Given the description of an element on the screen output the (x, y) to click on. 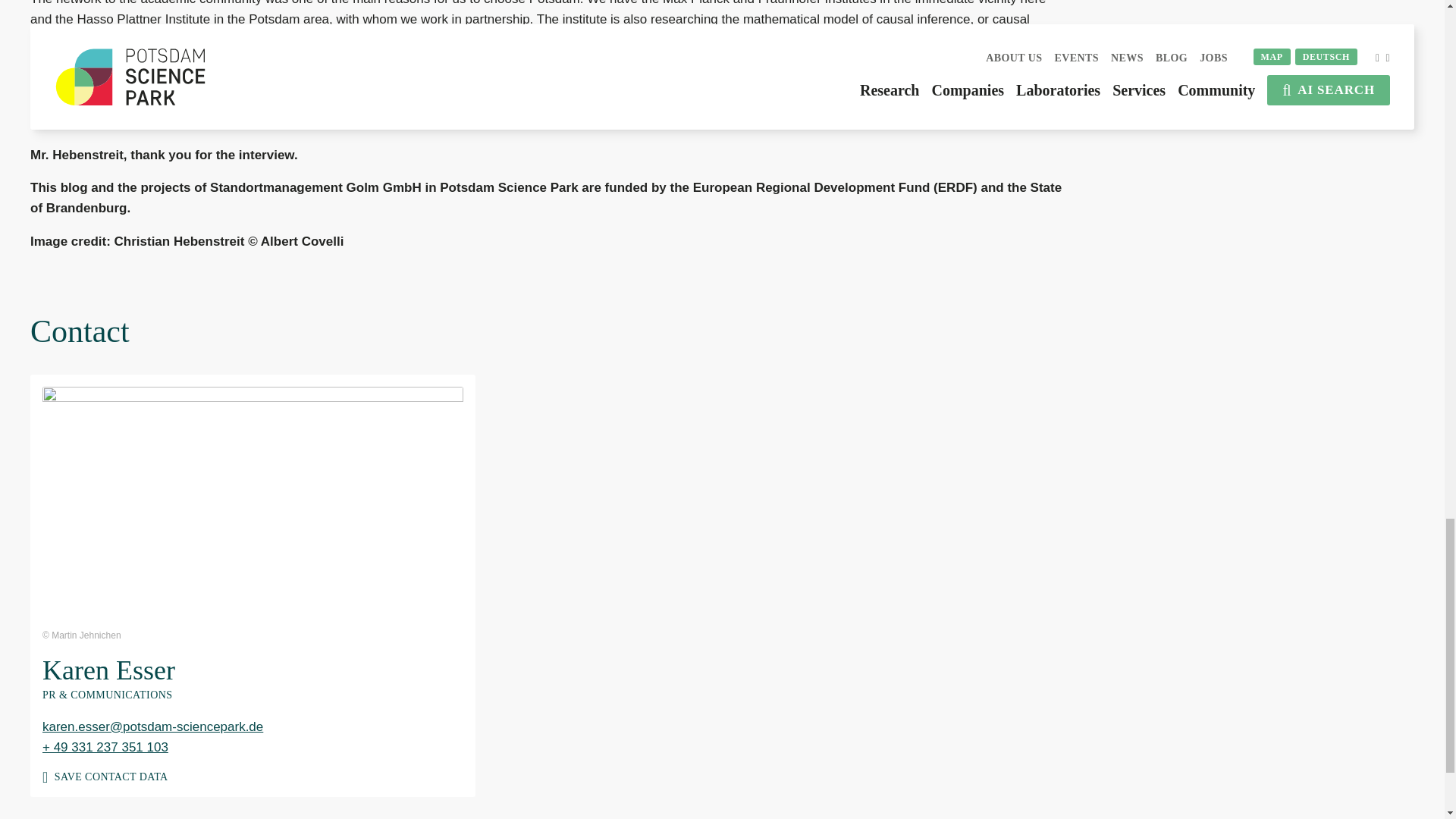
SAVE CONTACT DATA (252, 770)
